Given the description of an element on the screen output the (x, y) to click on. 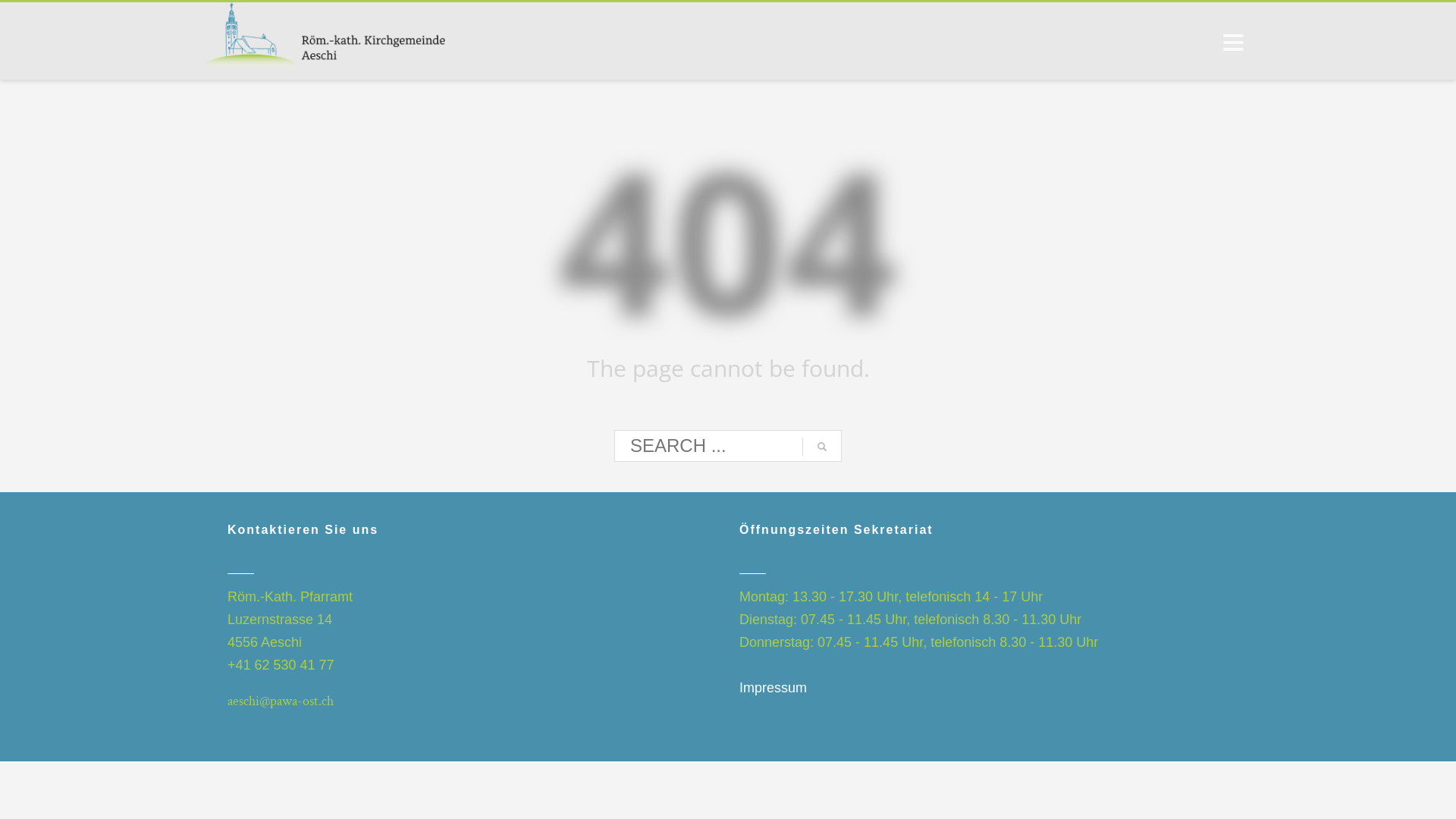
Pfarrei St. Anna, Aeschi SO Element type: hover (324, 40)
Impressum Element type: text (772, 687)
go Element type: text (821, 446)
